Given the description of an element on the screen output the (x, y) to click on. 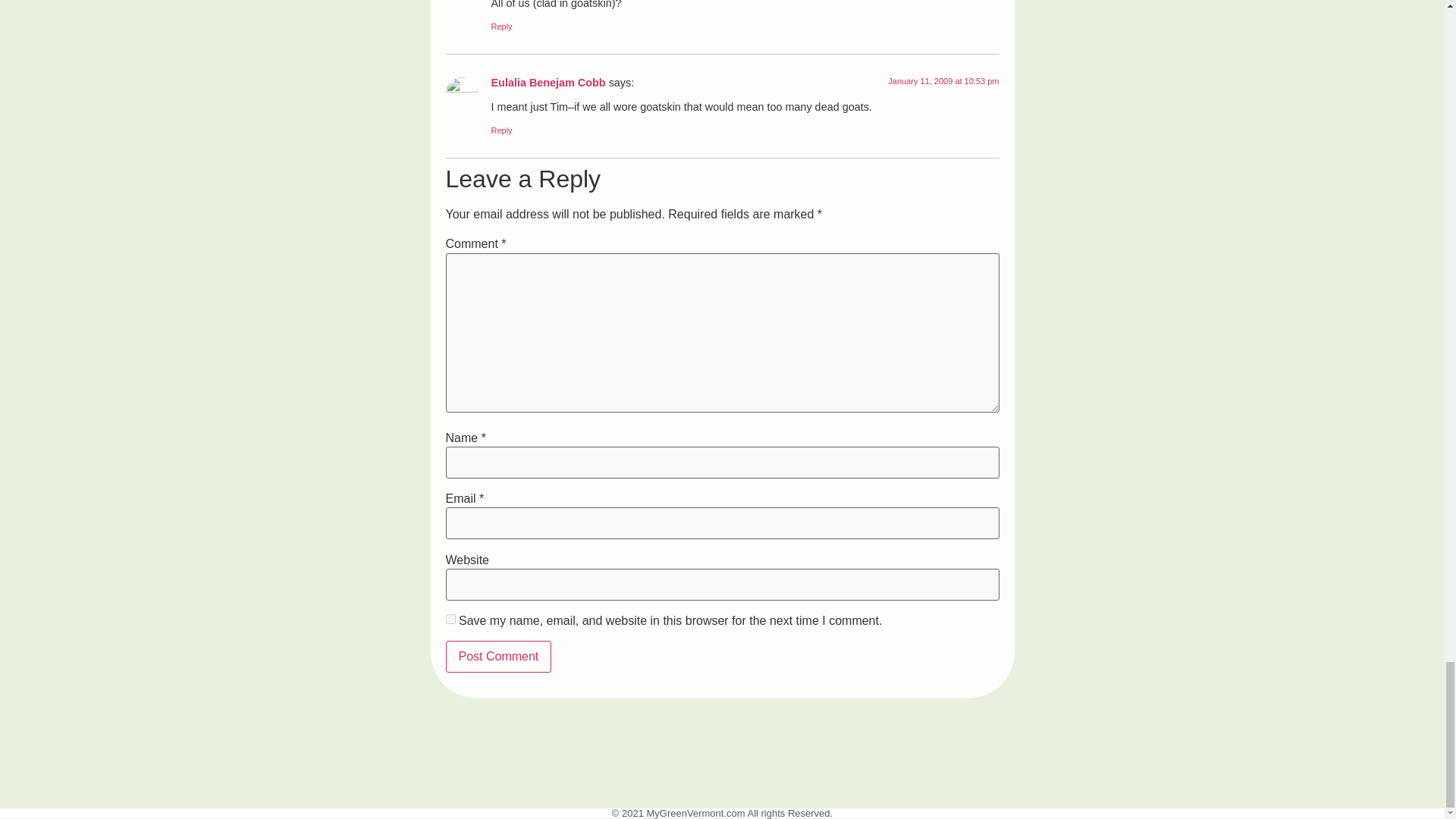
Post Comment (498, 656)
January 11, 2009 at 10:53 pm (943, 80)
Reply (502, 26)
yes (450, 619)
Reply (502, 130)
Eulalia Benejam Cobb (548, 82)
Post Comment (498, 656)
